Given the description of an element on the screen output the (x, y) to click on. 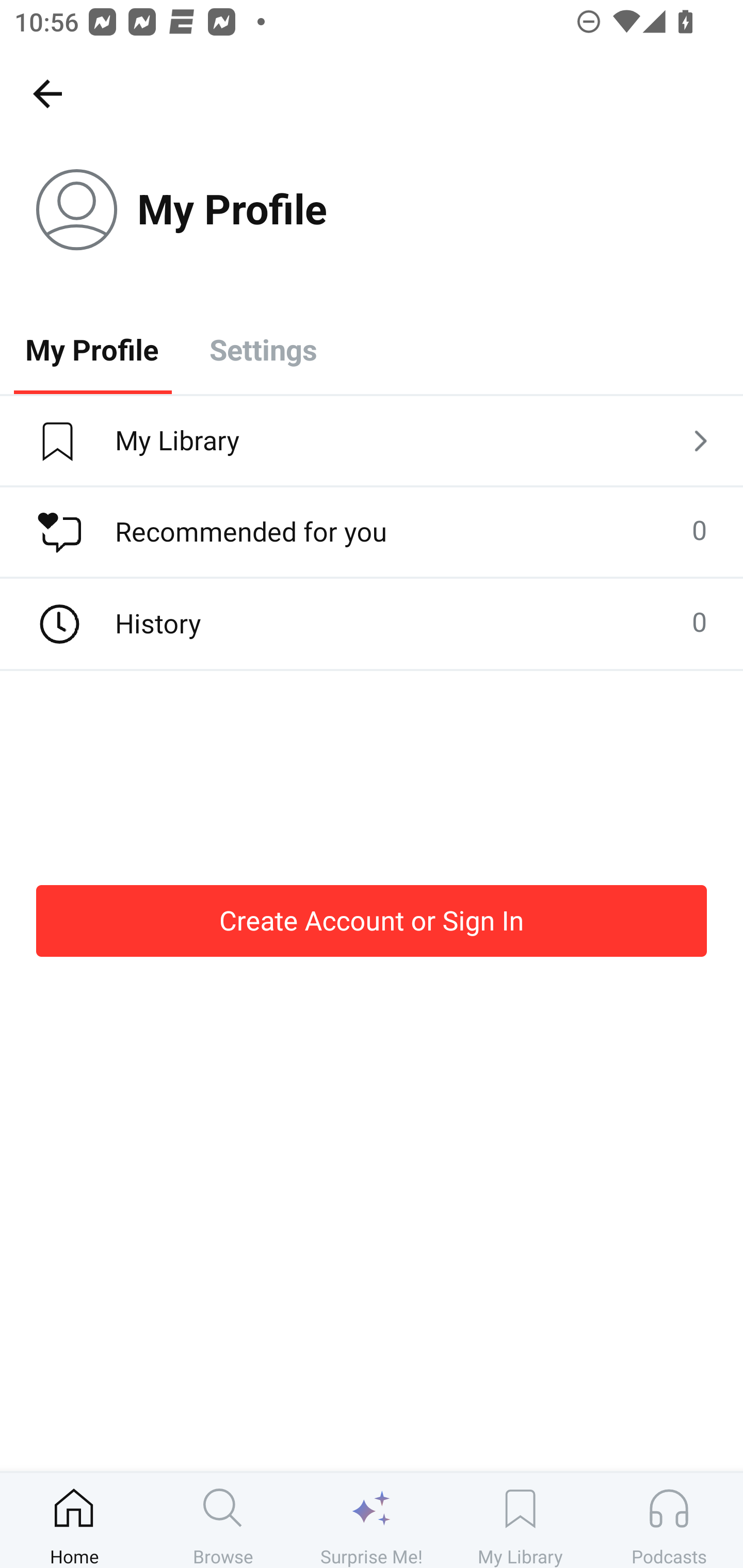
Home, back (47, 92)
My Profile (92, 348)
Settings (263, 348)
My Library (371, 441)
Recommended for you 0 (371, 532)
History 0 (371, 623)
Create Account or Sign In (371, 920)
Home (74, 1520)
Browse (222, 1520)
Surprise Me! (371, 1520)
My Library (519, 1520)
Podcasts (668, 1520)
